Given the description of an element on the screen output the (x, y) to click on. 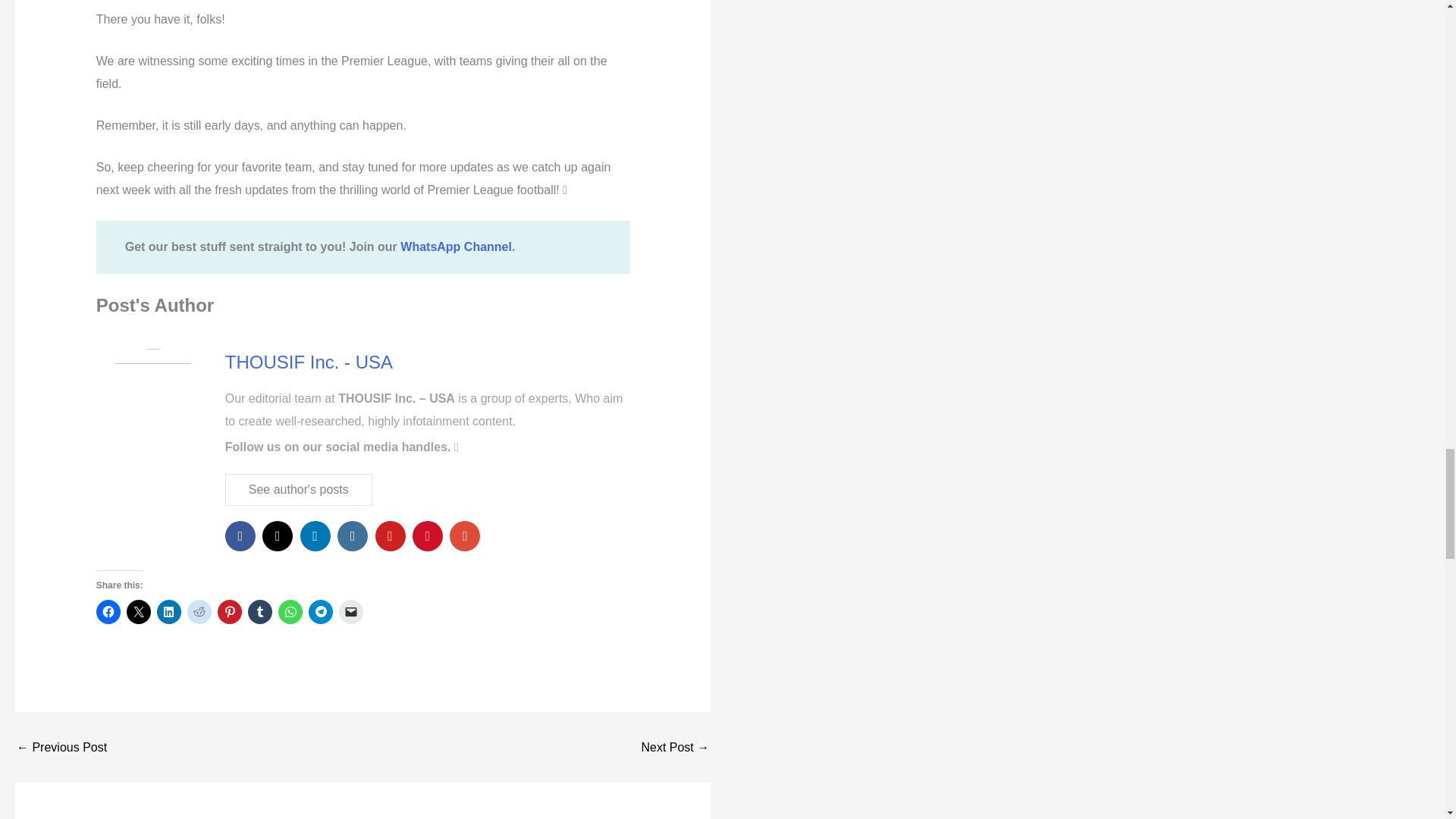
Click to share on LinkedIn (168, 611)
Click to share on Pinterest (228, 611)
Click to share on Facebook (108, 611)
Click to share on WhatsApp (290, 611)
Click to email a link to a friend (350, 611)
Click to share on X (138, 611)
Click to share on Telegram (320, 611)
Click to share on Reddit (199, 611)
Finally Home: Five Americans Return from Iranian Detention (61, 747)
Click to share on Tumblr (259, 611)
Worries Bubble Up About Biden's Age as 2024 Approaches (674, 747)
